Given the description of an element on the screen output the (x, y) to click on. 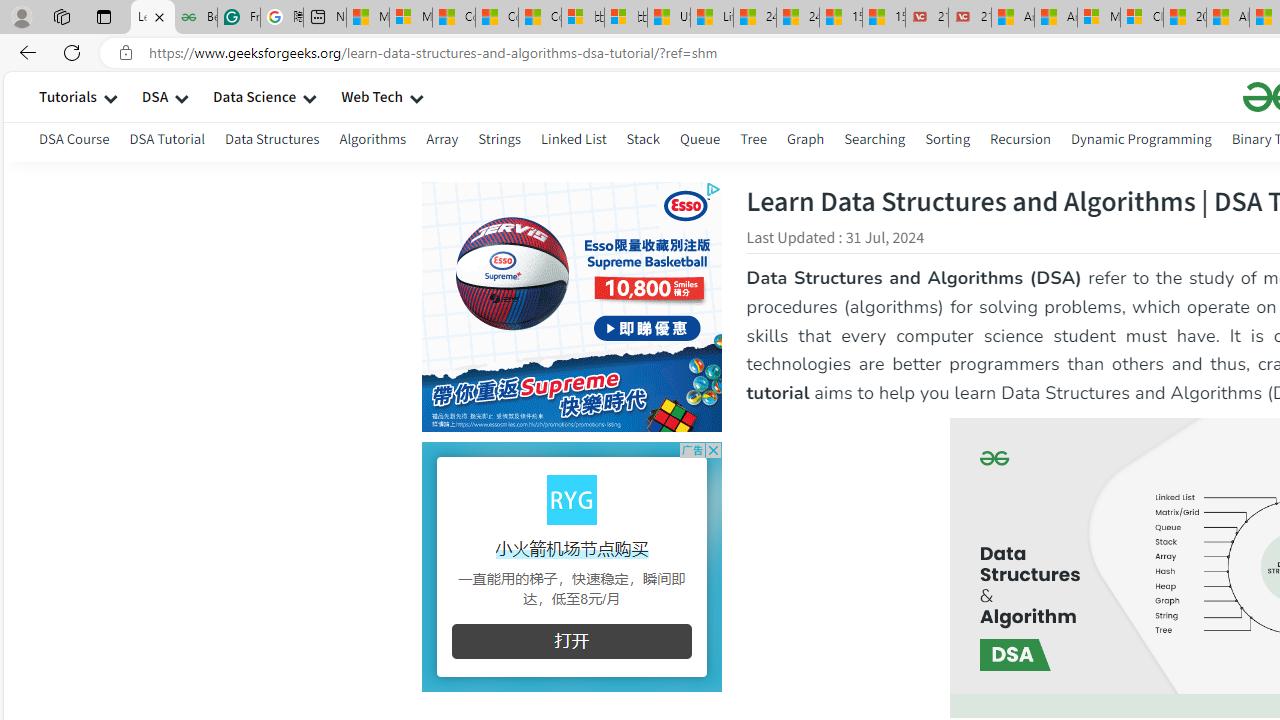
Recursion (1020, 142)
Tree (752, 142)
DSA (154, 96)
Recursion (1020, 138)
Data Structures (271, 138)
Dynamic Programming (1140, 138)
Graph (804, 142)
